Given the description of an element on the screen output the (x, y) to click on. 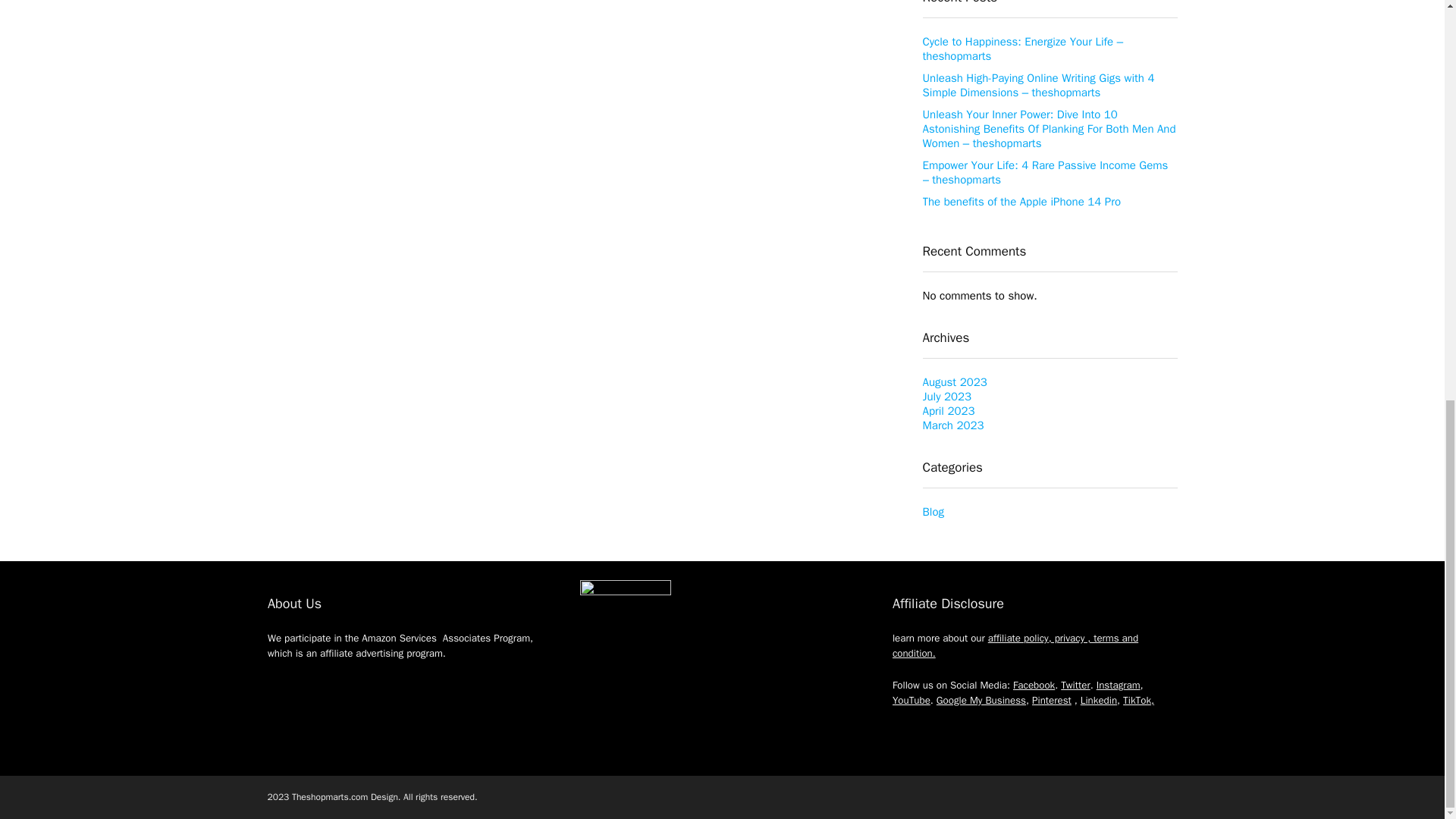
TikTok, (1138, 699)
YouTube (911, 699)
August 2023 (954, 382)
April 2023 (947, 410)
Linkedin (1098, 699)
affiliate policy, privacy , terms and condition. (1015, 645)
March 2023 (952, 425)
Google My Business (981, 699)
July 2023 (946, 396)
The benefits of the Apple iPhone 14 Pro (1021, 201)
